Given the description of an element on the screen output the (x, y) to click on. 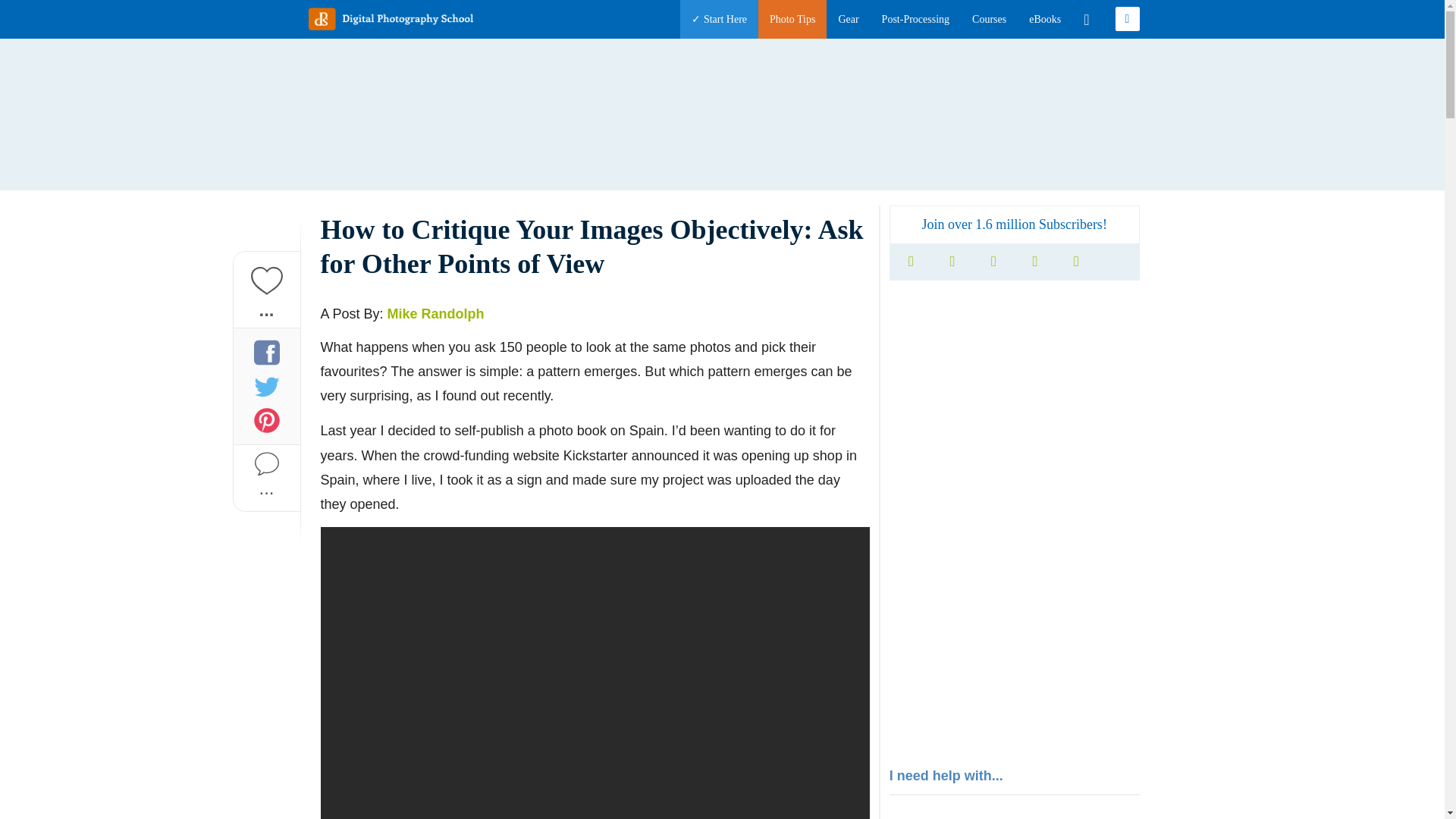
Gear (847, 19)
Click to share on Facebook (266, 352)
Post-Processing (915, 19)
Photo Tips (791, 19)
Digital Photography School (390, 18)
Click to share on Pinterest (266, 420)
Click to share on Twitter (266, 385)
